Given the description of an element on the screen output the (x, y) to click on. 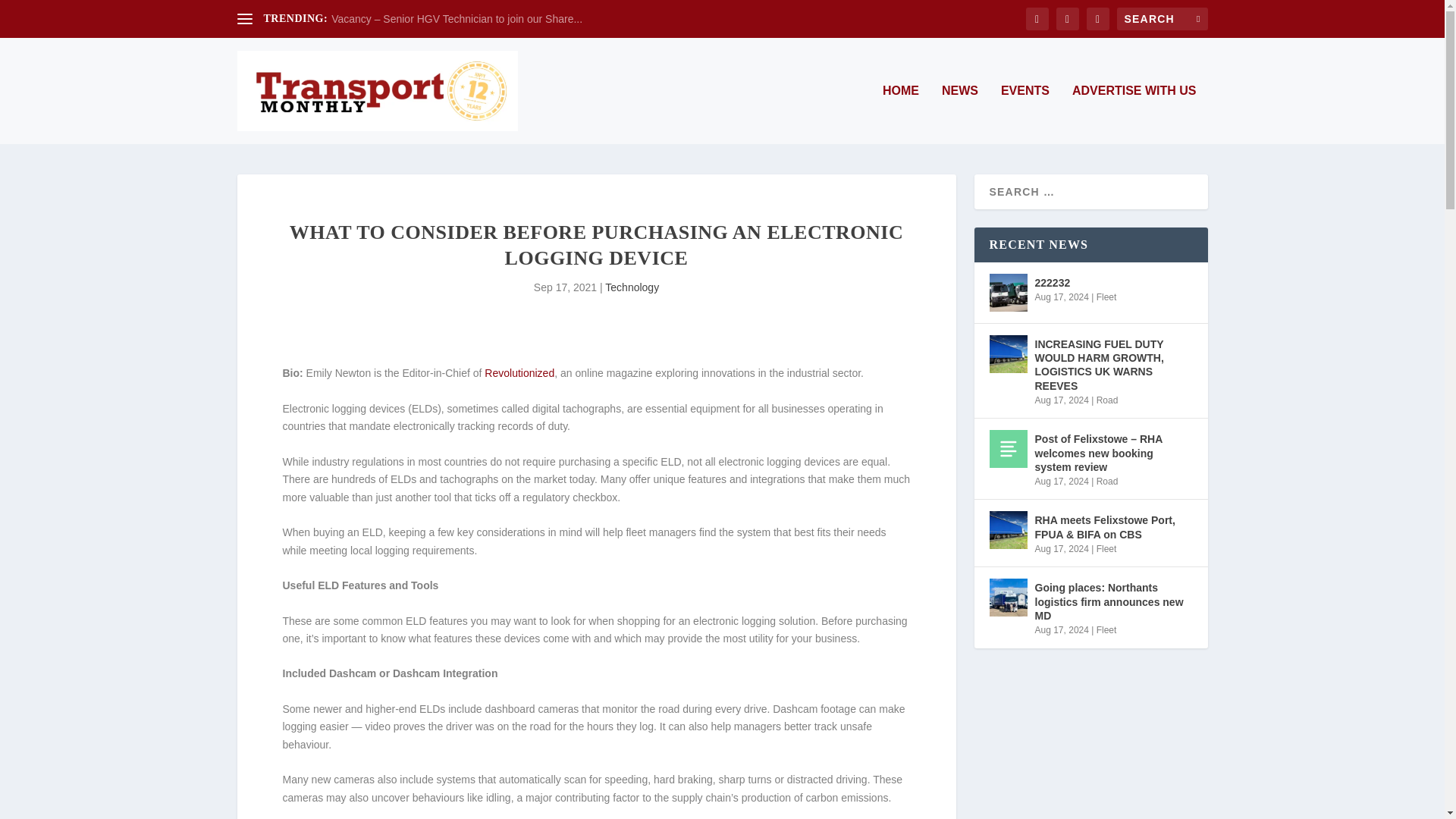
Technology (632, 287)
ADVERTISE WITH US (1133, 114)
Revolutionized (519, 372)
Search for: (1161, 18)
